Given the description of an element on the screen output the (x, y) to click on. 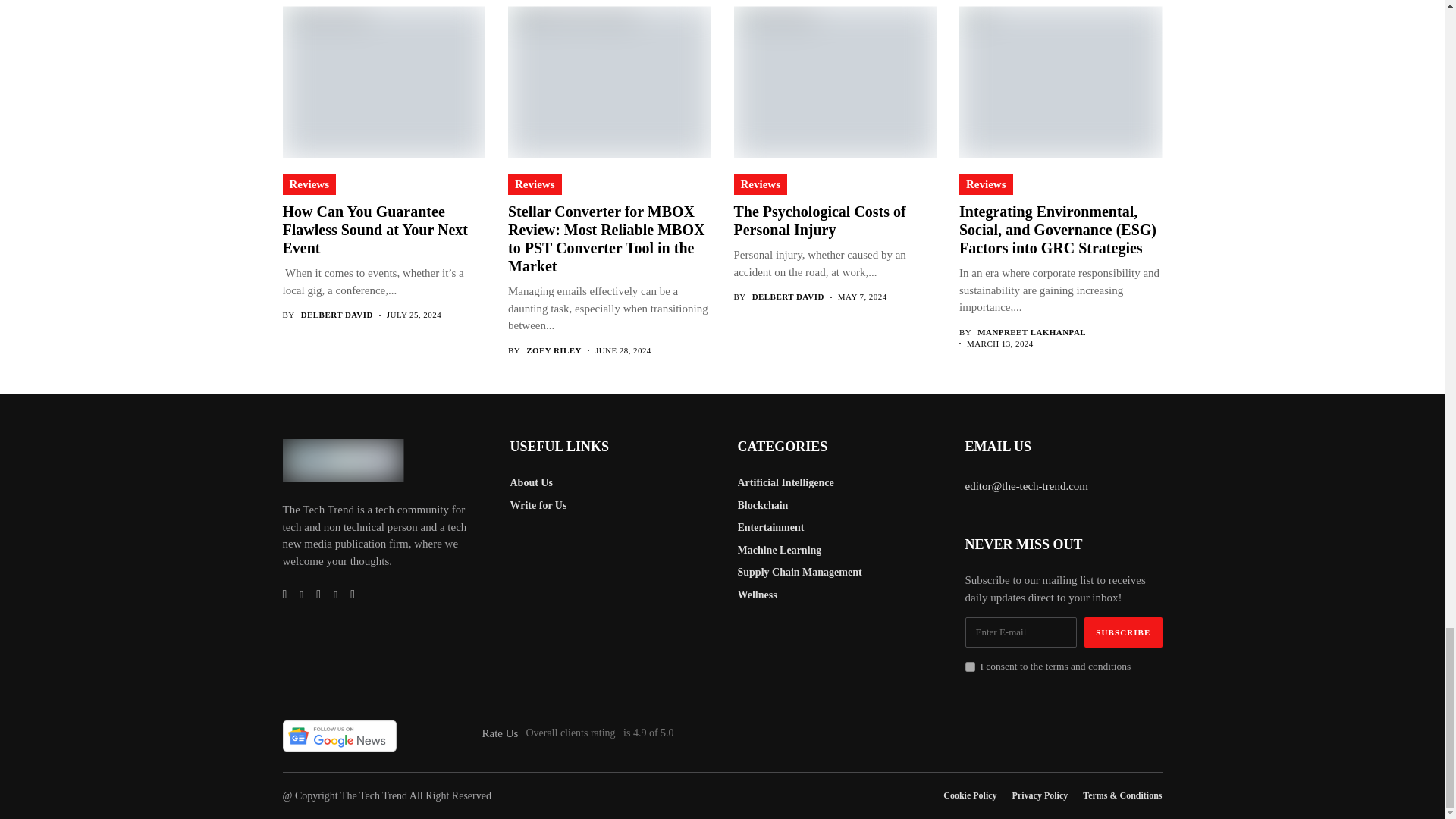
Posts by Manpreet Lakhanpal (1031, 332)
Subscribe (1122, 632)
1 (968, 666)
Posts by Delbert David (788, 296)
Posts by Delbert David (336, 315)
Posts by Zoey Riley (552, 350)
